Given the description of an element on the screen output the (x, y) to click on. 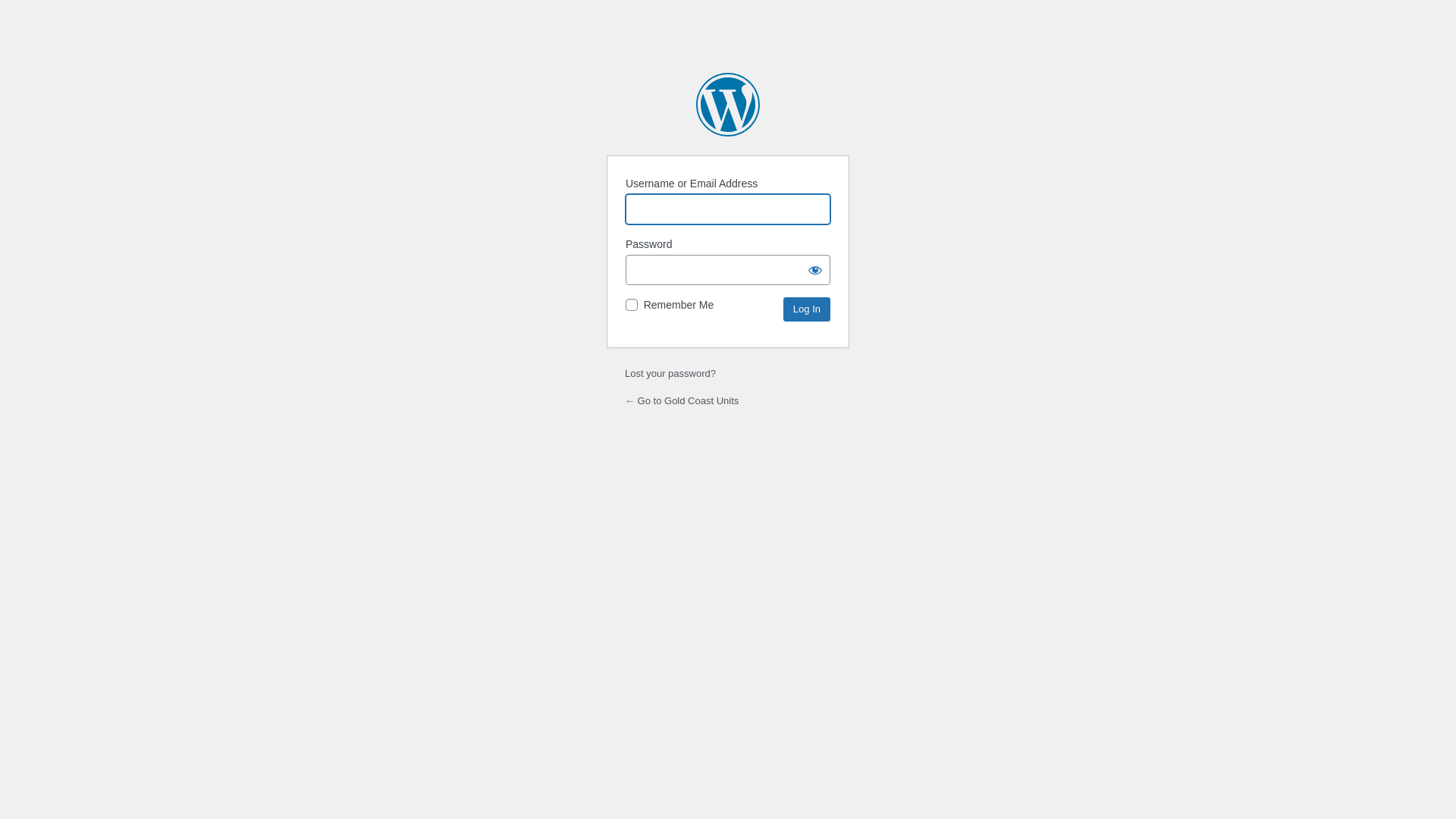
Log In Element type: text (806, 309)
Powered by WordPress Element type: text (727, 104)
Lost your password? Element type: text (669, 373)
